Given the description of an element on the screen output the (x, y) to click on. 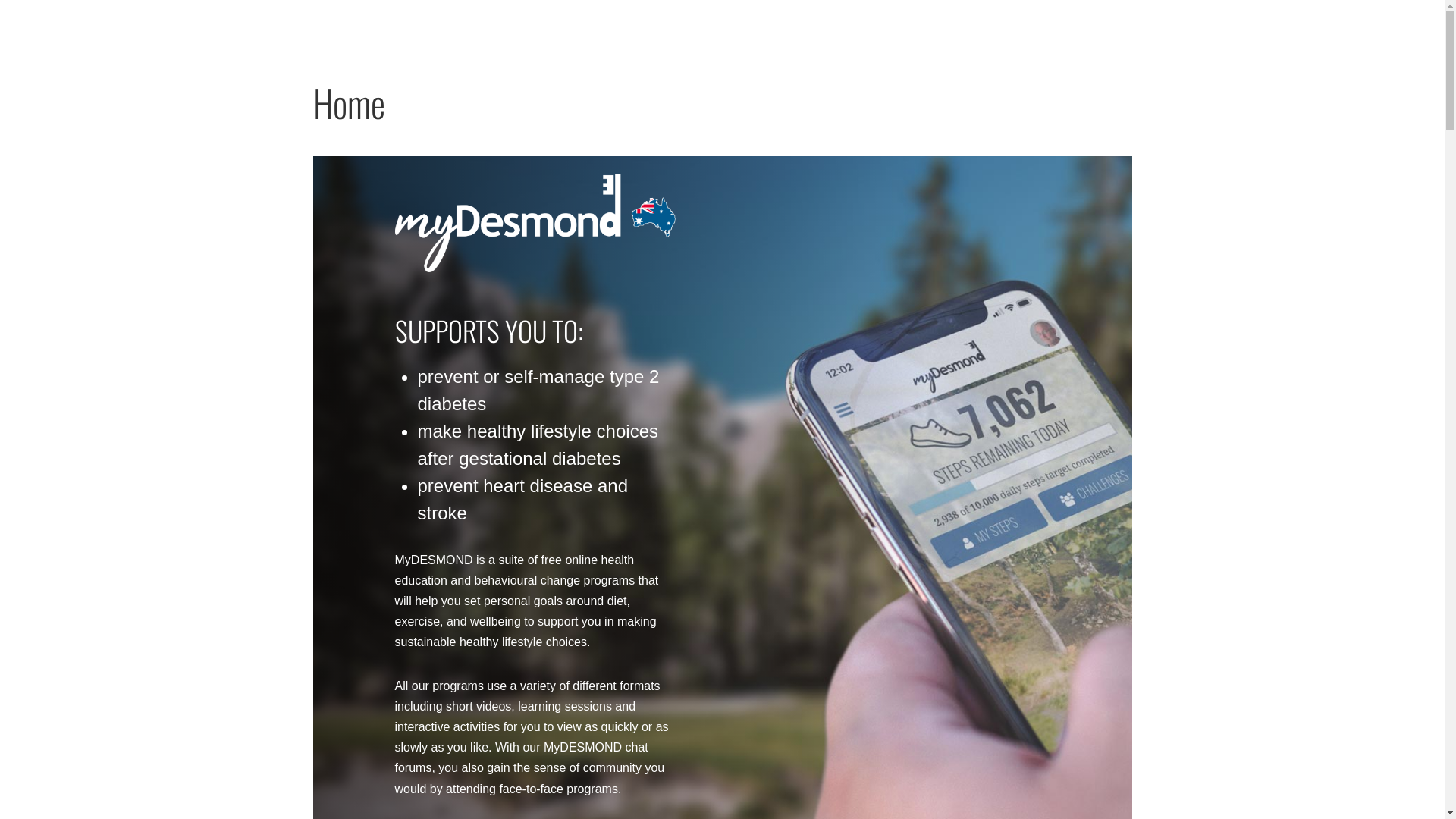
WHY JOIN? Element type: text (860, 27)
FEATURES Element type: text (927, 27)
TESTIMONIALS Element type: text (1043, 27)
TOUR Element type: text (979, 27)
ABOUT Element type: text (1112, 27)
